Given the description of an element on the screen output the (x, y) to click on. 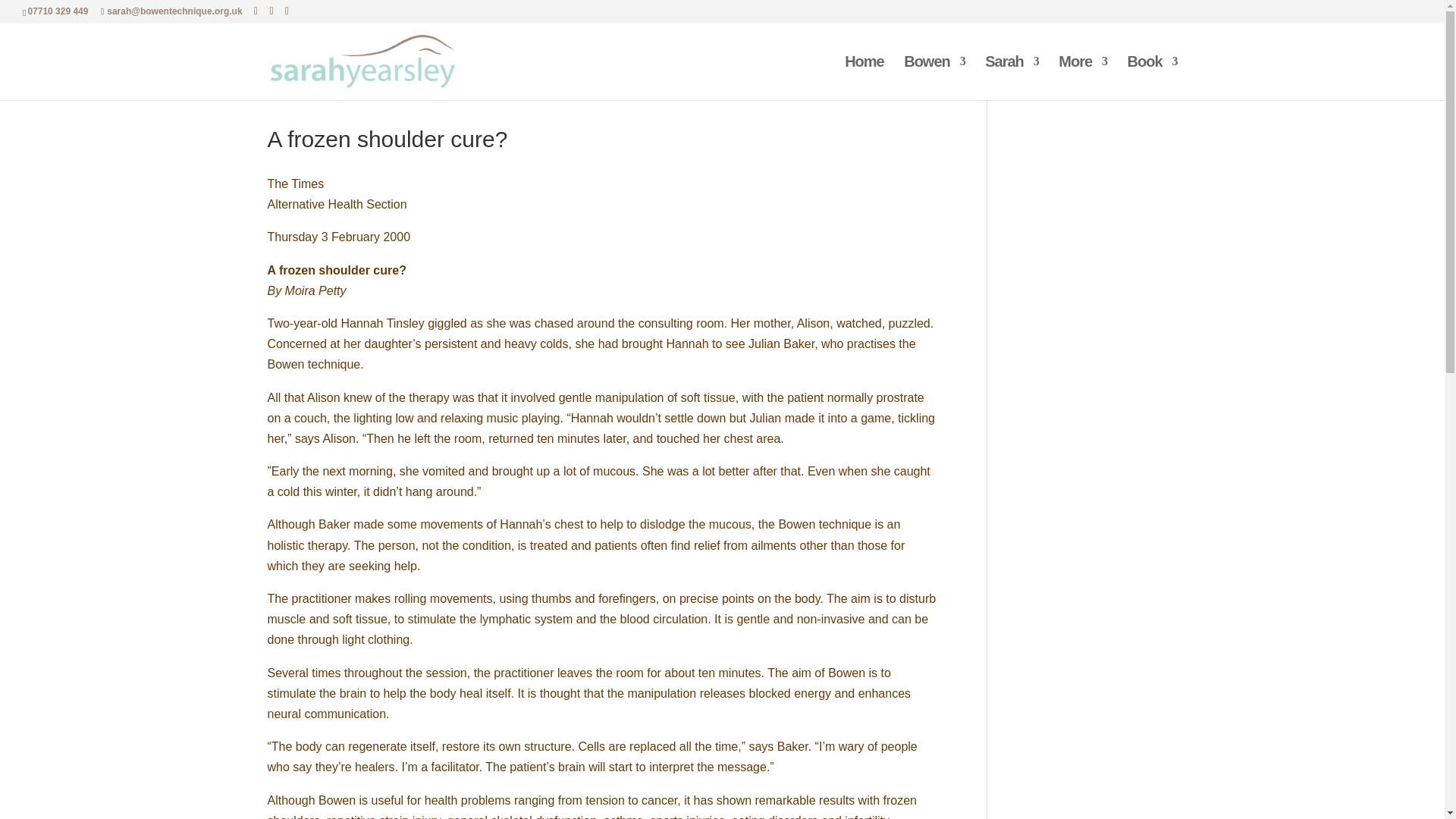
Sarah (1012, 77)
More (1082, 77)
Bowen (934, 77)
Home (863, 77)
Book (1151, 77)
